Given the description of an element on the screen output the (x, y) to click on. 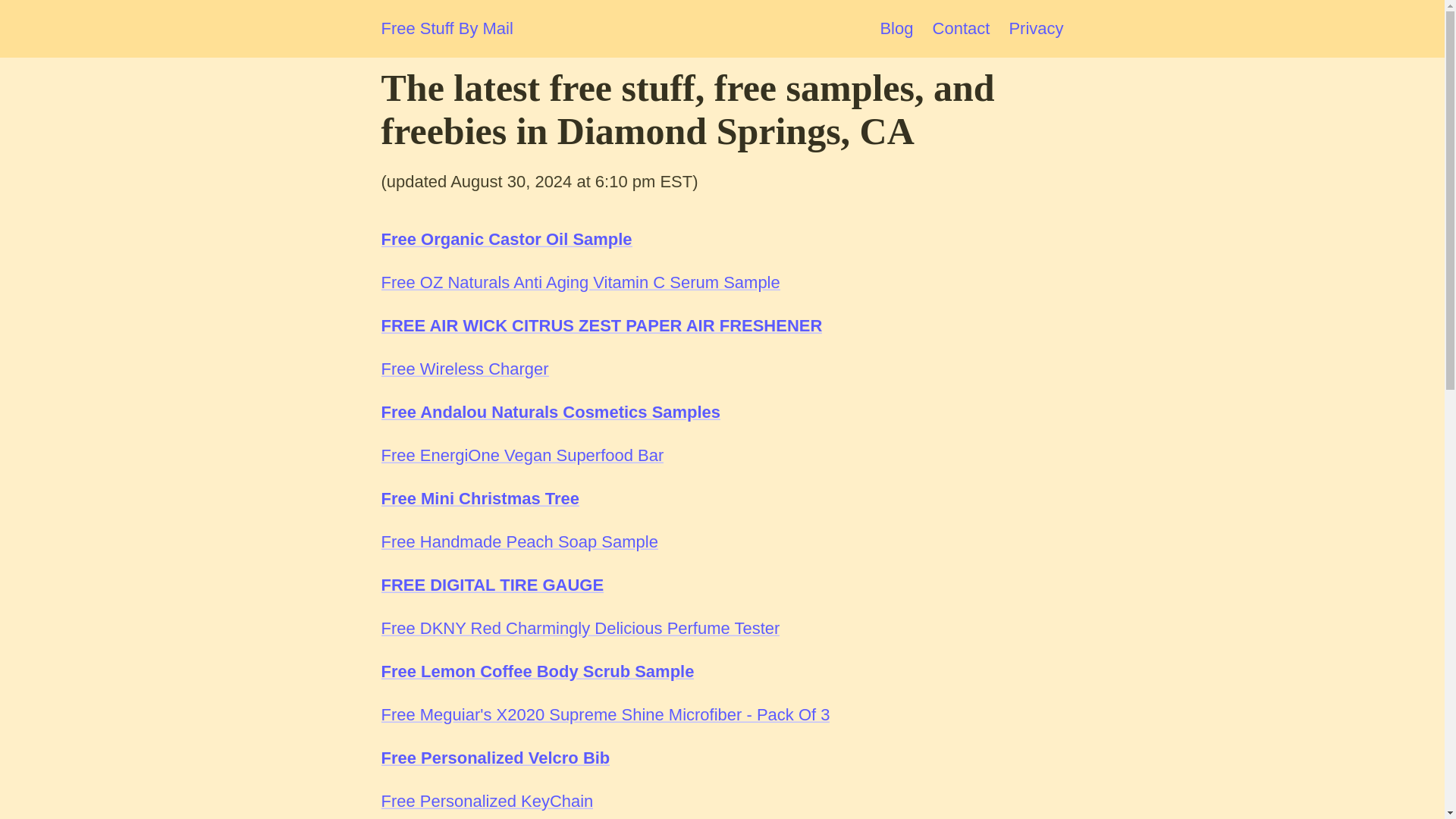
Free Wireless Charger (464, 368)
Privacy (1035, 27)
Blog (895, 27)
Free Mini Christmas Tree (479, 497)
Free EnergiOne Vegan Superfood Bar (521, 455)
Free Andalou Naturals Cosmetics Samples (550, 411)
Contact (961, 27)
Free Stuff By Mail (446, 28)
FREE AIR WICK CITRUS ZEST PAPER AIR FRESHENER (601, 325)
Free OZ Naturals Anti Aging Vitamin C Serum Sample (579, 281)
